Given the description of an element on the screen output the (x, y) to click on. 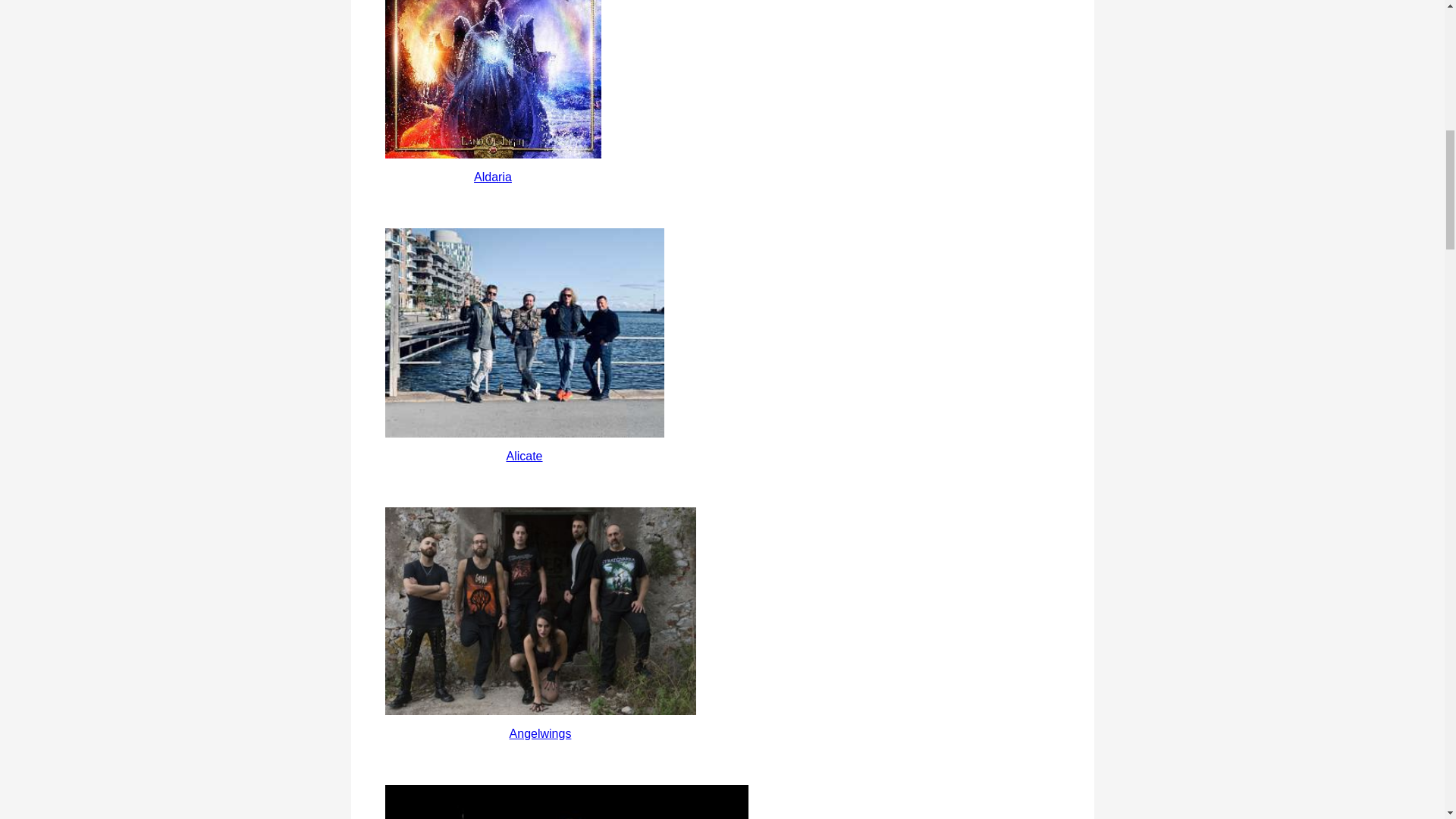
Angelwings (540, 733)
Aldaria (493, 176)
Angelwings (540, 610)
Alicate (524, 332)
Aldaria (493, 79)
Alicate (523, 455)
Ani Lo. Projekt (566, 801)
Aldaria (493, 176)
Angelwings (540, 733)
Alicate (523, 455)
